Given the description of an element on the screen output the (x, y) to click on. 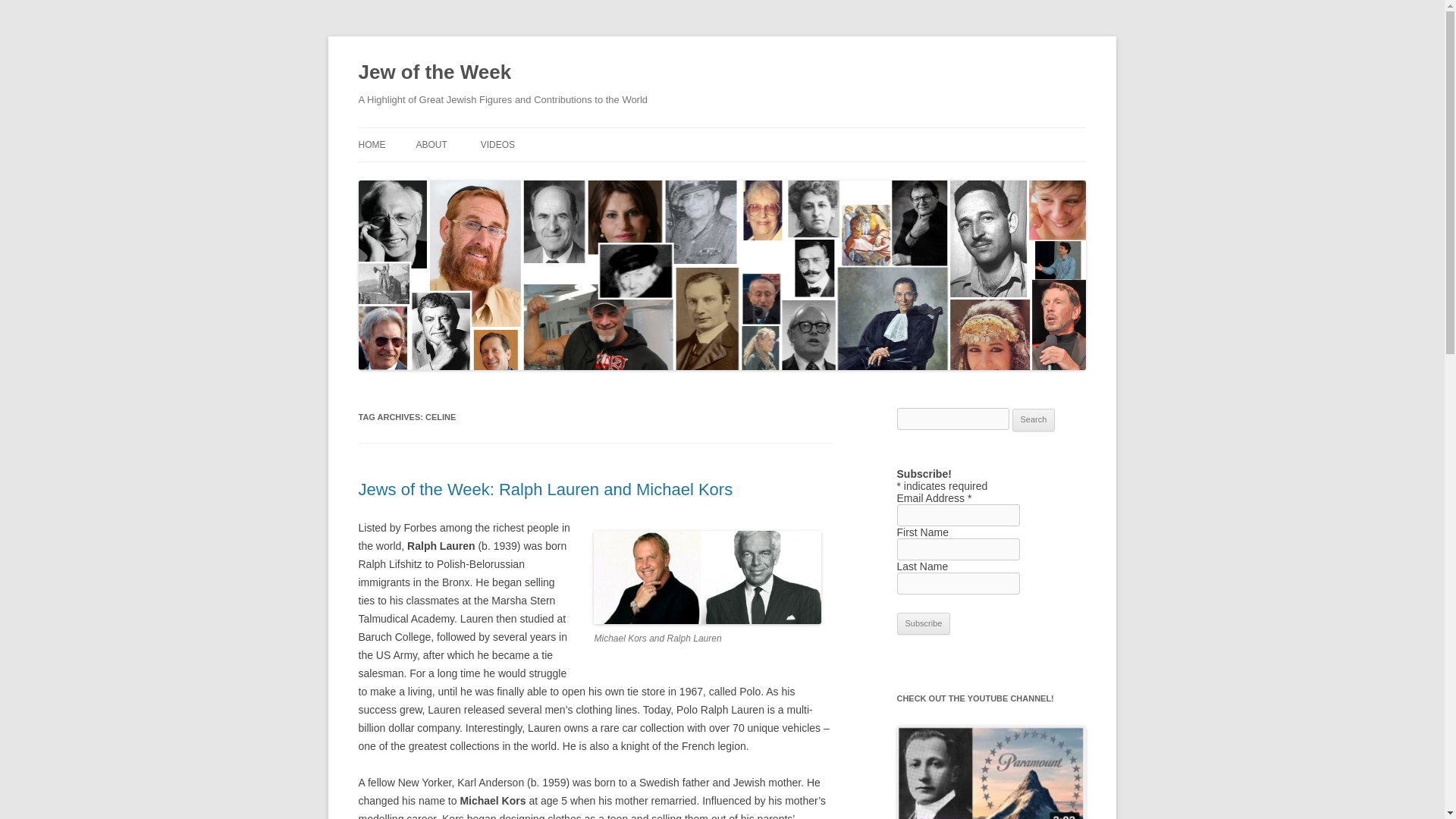
ABOUT (430, 144)
Subscribe (923, 623)
VIDEOS (497, 144)
Jews of the Week: Ralph Lauren and Michael Kors (545, 488)
Search (1033, 419)
Jew of the Week (434, 72)
Search (1033, 419)
Subscribe (923, 623)
Jew of the Week (434, 72)
